Given the description of an element on the screen output the (x, y) to click on. 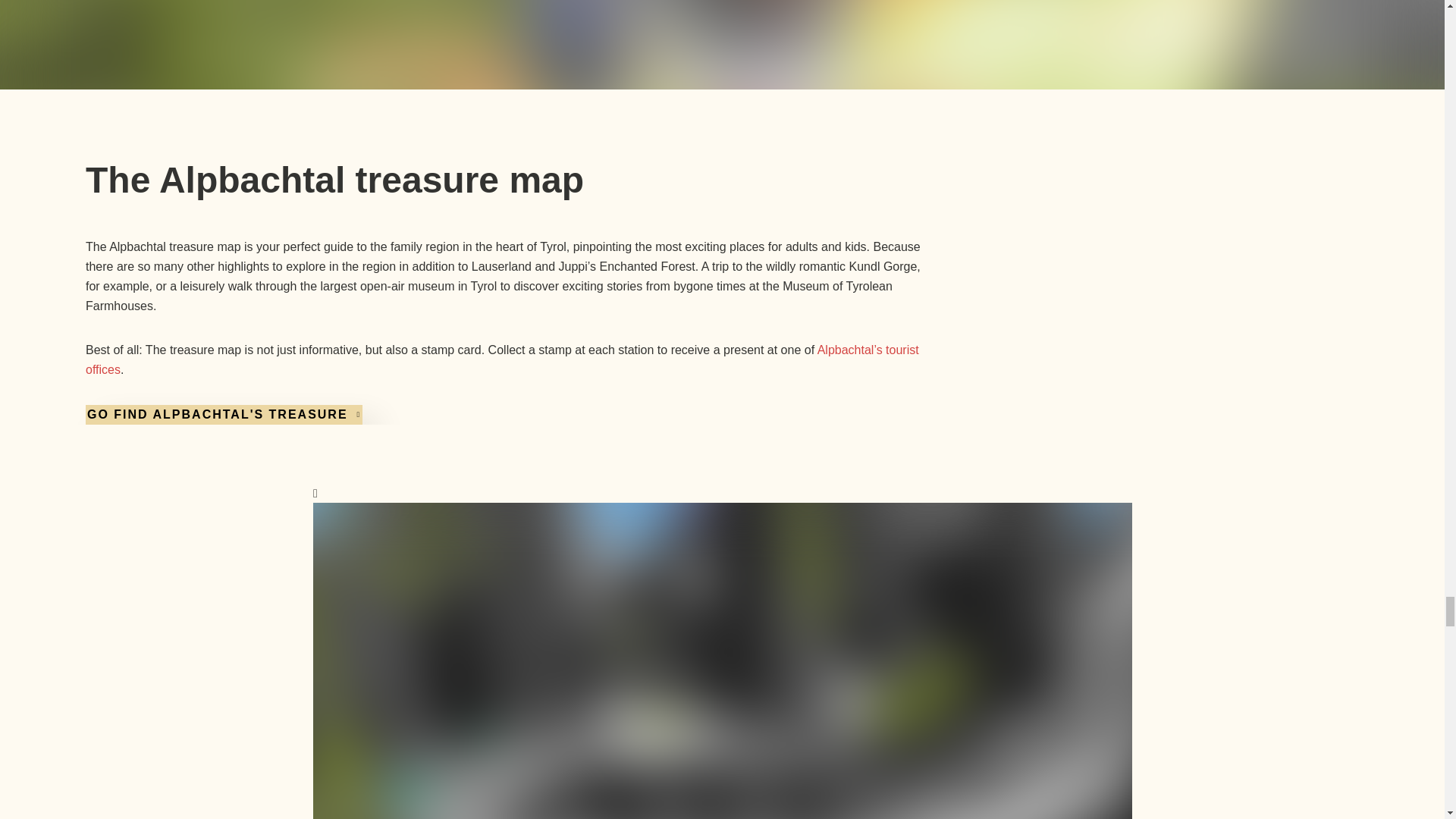
GO FIND ALPBACHTAL'S TREASURE (222, 414)
